Given the description of an element on the screen output the (x, y) to click on. 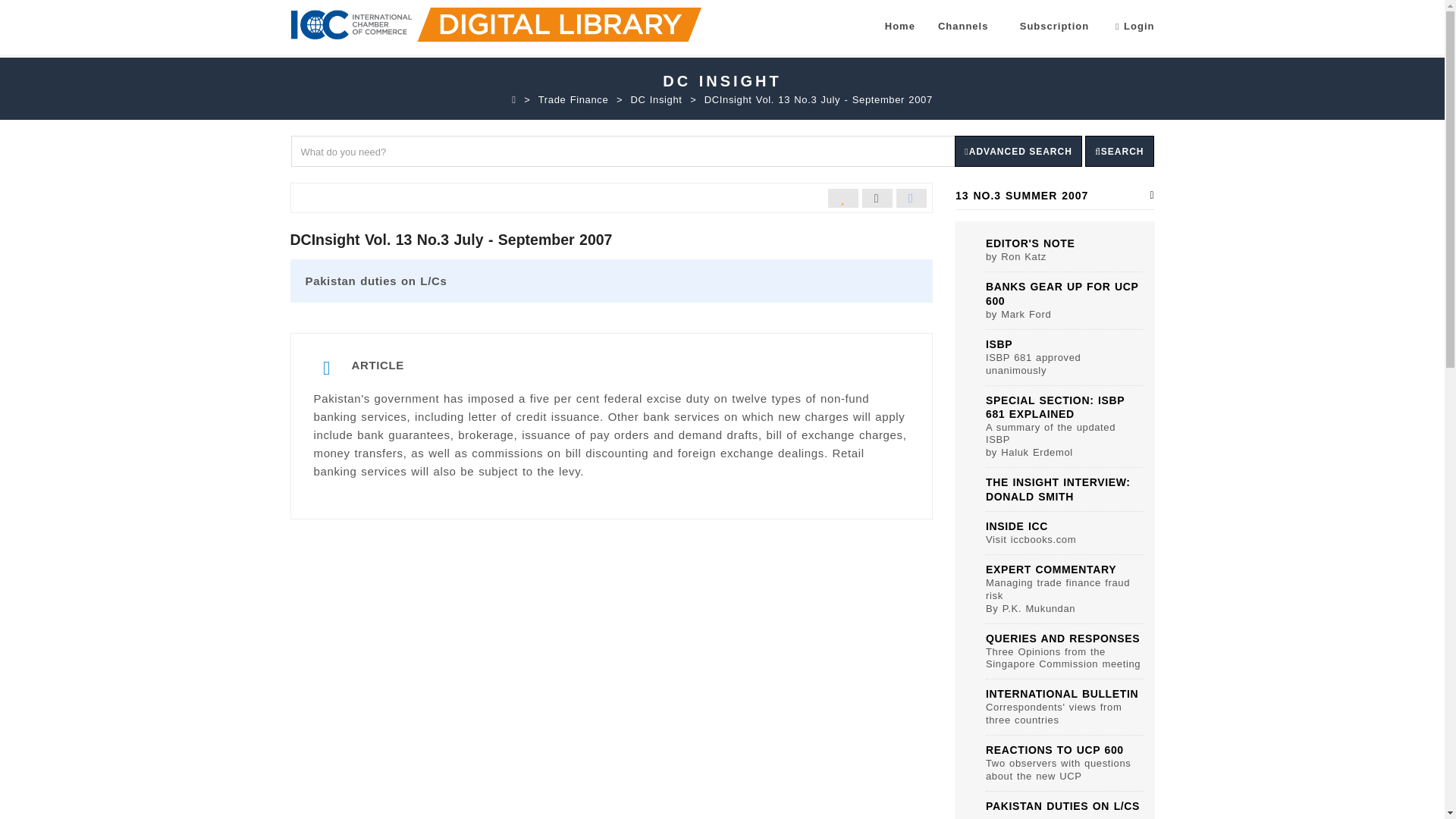
THE INSIGHT INTERVIEW: DONALD SMITH (1058, 488)
INSIDE ICC (1016, 526)
ISBP (998, 344)
EXPERT COMMENTARY (1050, 569)
SEARCH (1118, 151)
13 NO.3 SUMMER 2007 (1054, 195)
SPECIAL SECTION: ISBP 681 EXPLAINED (1054, 406)
Login (1134, 24)
REACTIONS TO UCP 600 (1054, 749)
Subscription (1054, 26)
ADVANCED SEARCH (1018, 151)
INTERNATIONAL BULLETIN (1061, 693)
Trade Finance (573, 99)
BANKS GEAR UP FOR UCP 600 (1061, 293)
Home (899, 26)
